Given the description of an element on the screen output the (x, y) to click on. 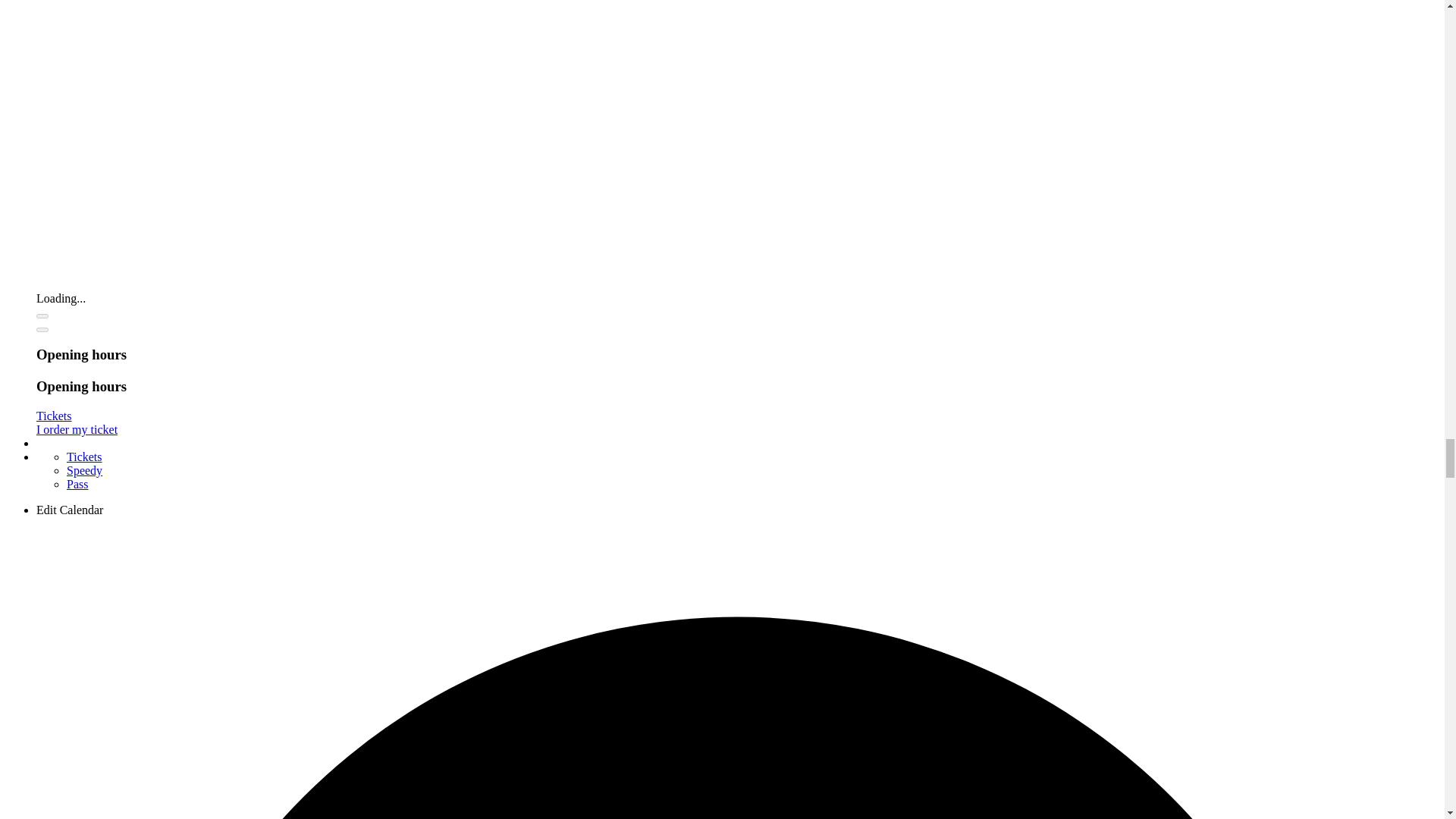
Tickets (83, 456)
I order my ticket (76, 429)
Speedy (83, 470)
Tickets (53, 415)
Pass (76, 483)
